Given the description of an element on the screen output the (x, y) to click on. 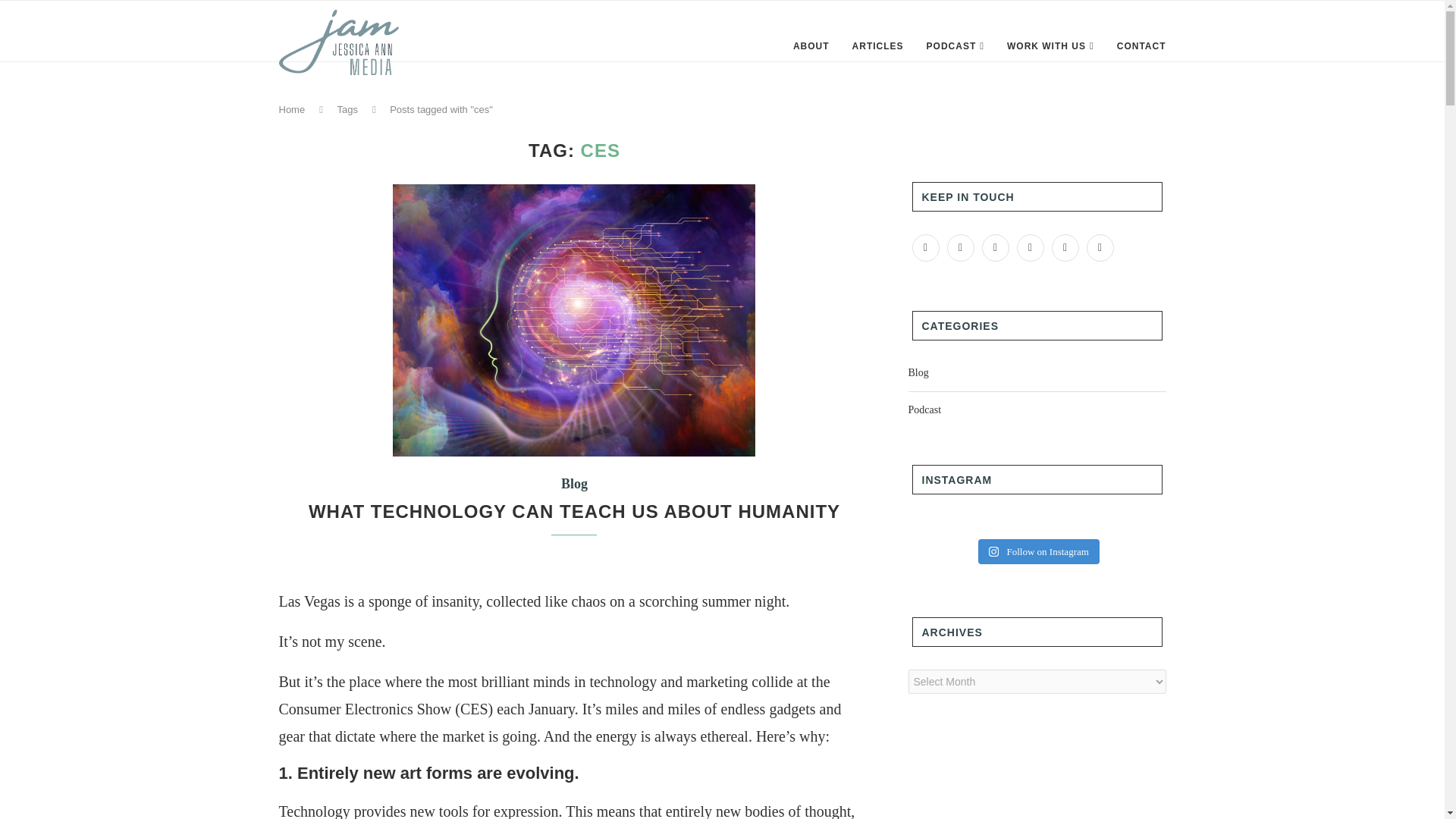
ABOUT (811, 45)
PODCAST (955, 45)
ARTICLES (877, 45)
WORK WITH US (1050, 45)
